Given the description of an element on the screen output the (x, y) to click on. 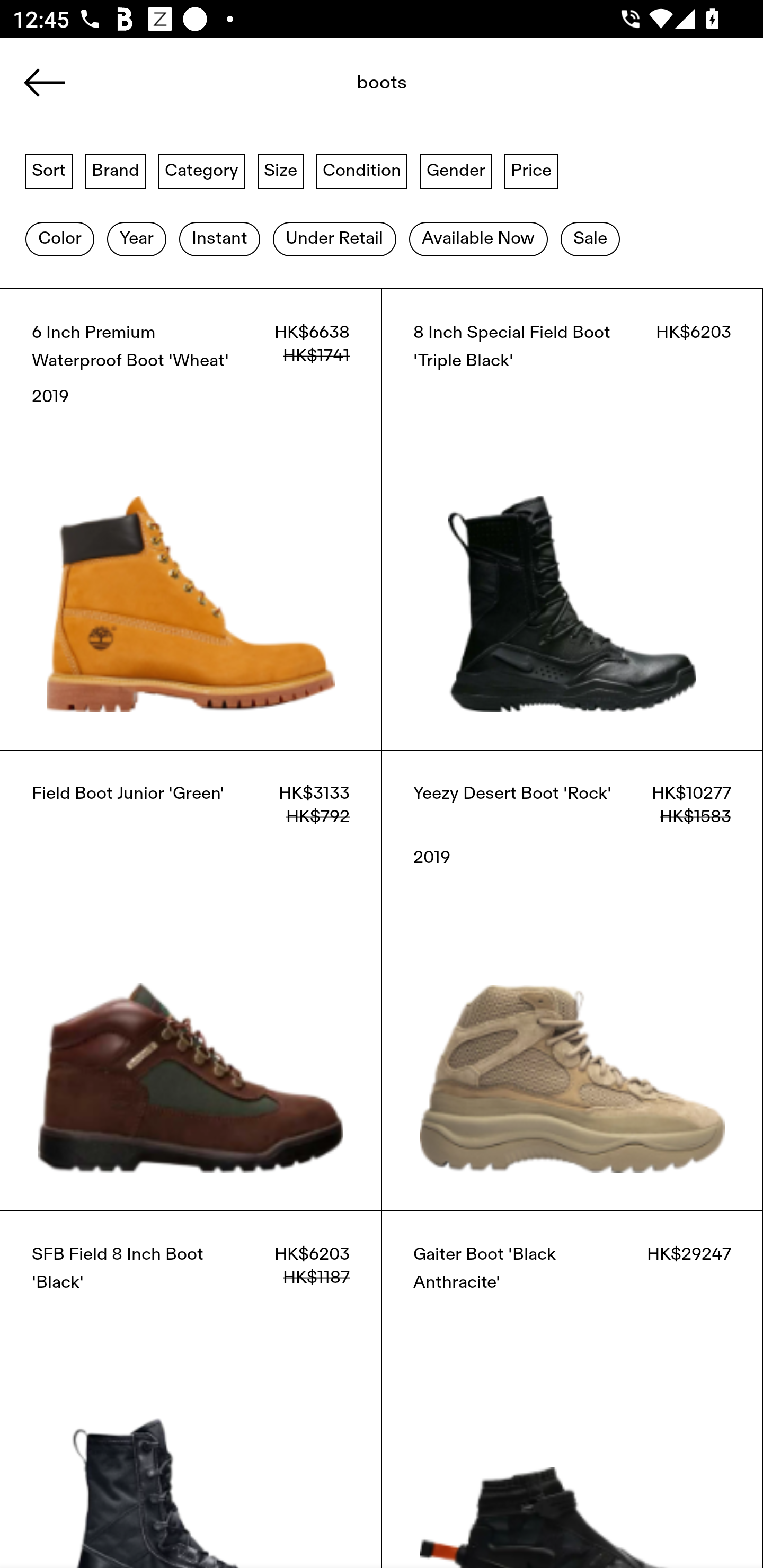
running shoes (340, 88)
Sort (48, 170)
Brand (115, 170)
Category (201, 170)
Size (280, 170)
Condition (361, 170)
Gender (455, 170)
Price (530, 170)
Color (59, 239)
Year (136, 239)
Instant (219, 239)
Under Retail (334, 239)
Available Now (477, 239)
Sale (589, 239)
8 Inch Special Field Boot 'Triple Black' HK$6203 (572, 518)
Field Boot Junior 'Green' HK$3133 HK$792 (190, 979)
Yeezy Desert Boot 'Rock' HK$10277 HK$1583 2019 (572, 979)
SFB Field 8 Inch Boot 'Black' HK$6203 HK$1187 (190, 1389)
Gaiter Boot 'Black Anthracite' HK$29247 (572, 1389)
